Given the description of an element on the screen output the (x, y) to click on. 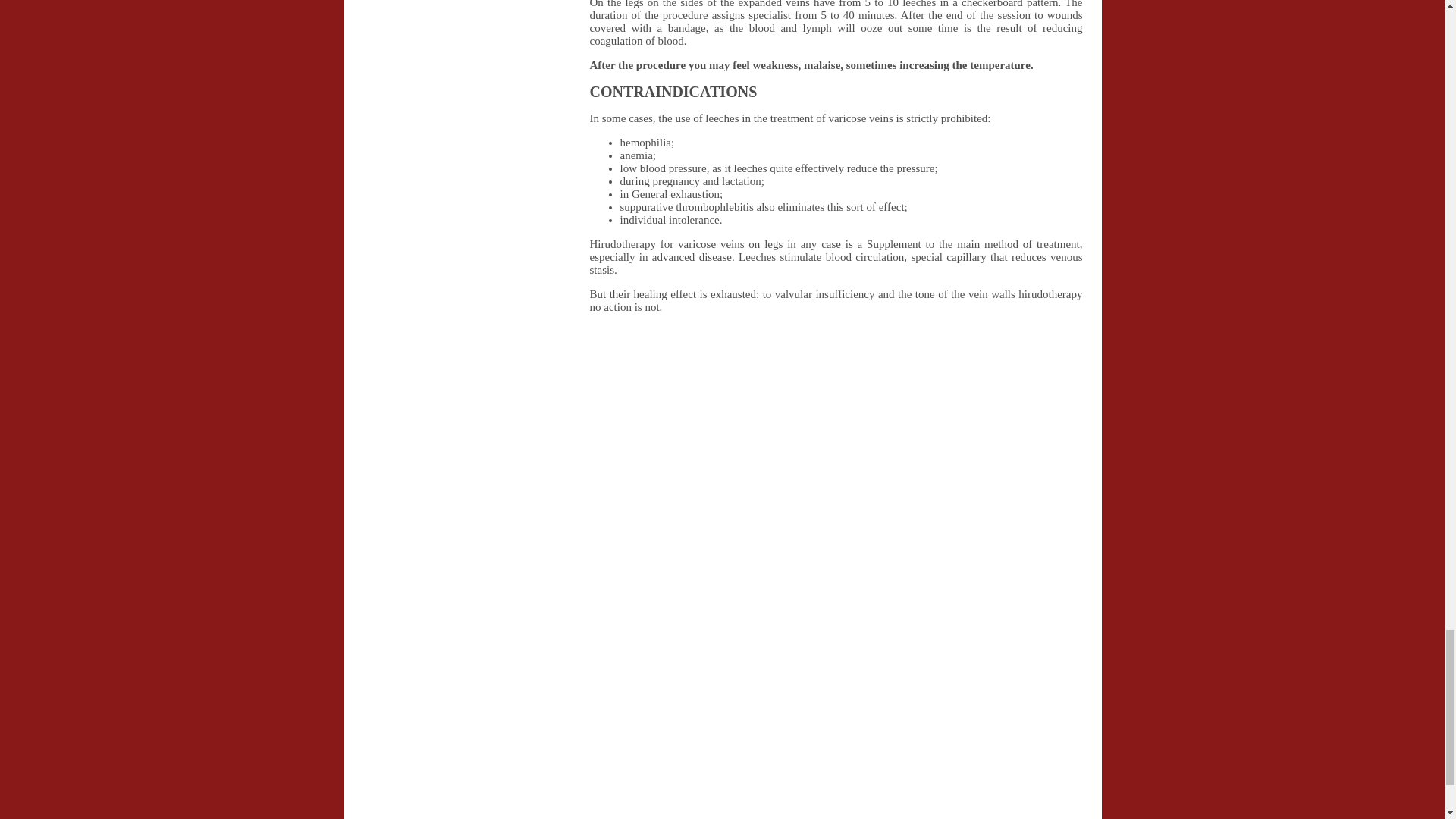
Advertisement (716, 666)
